Given the description of an element on the screen output the (x, y) to click on. 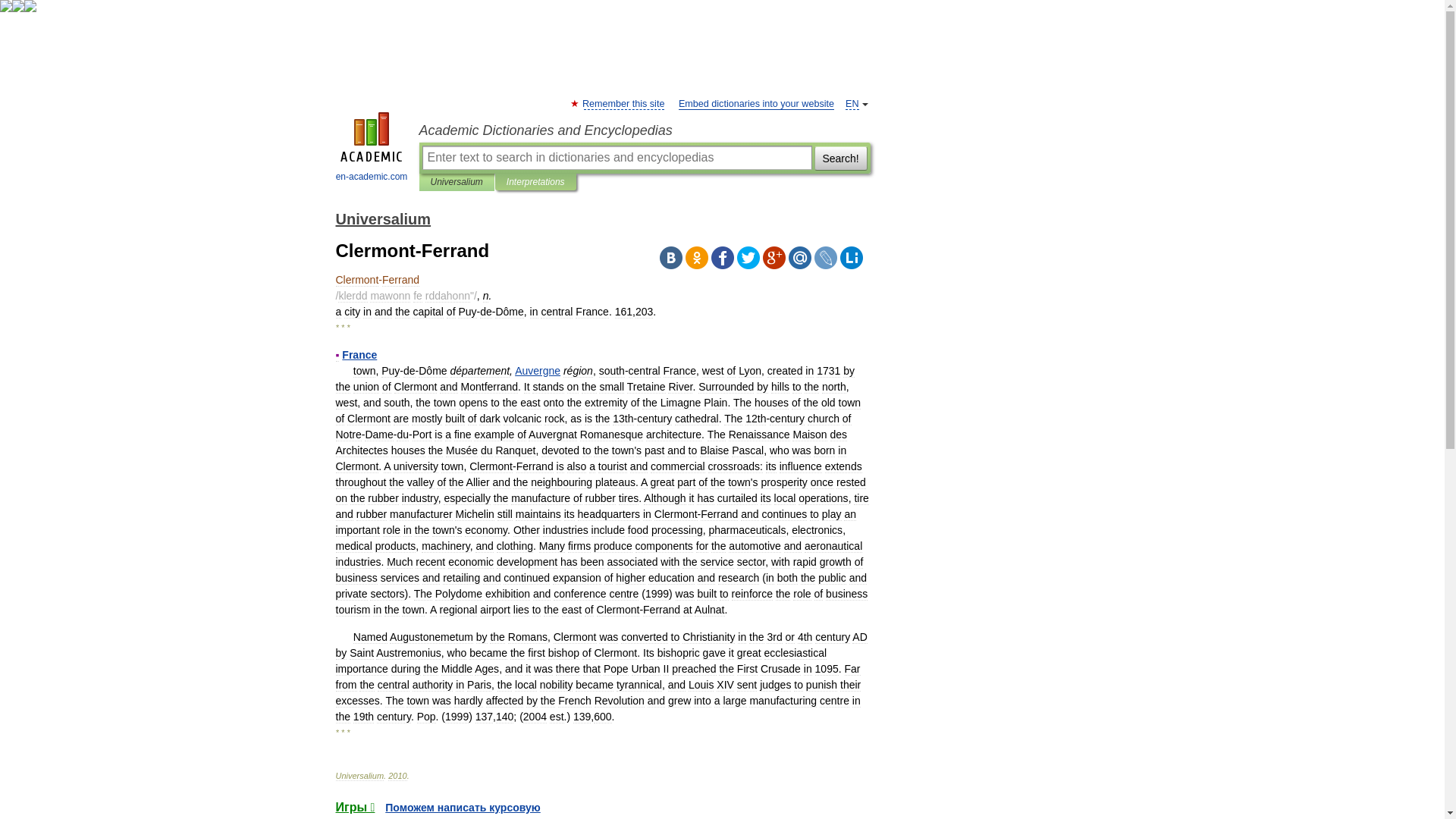
Auvergne (537, 370)
Remember this site (623, 103)
Enter text to search in dictionaries and encyclopedias (616, 157)
Interpretations (535, 181)
Embed dictionaries into your website (756, 103)
Universalium (382, 218)
Search! (840, 157)
Universalium (456, 181)
en-academic.com (371, 148)
France (359, 354)
